Given the description of an element on the screen output the (x, y) to click on. 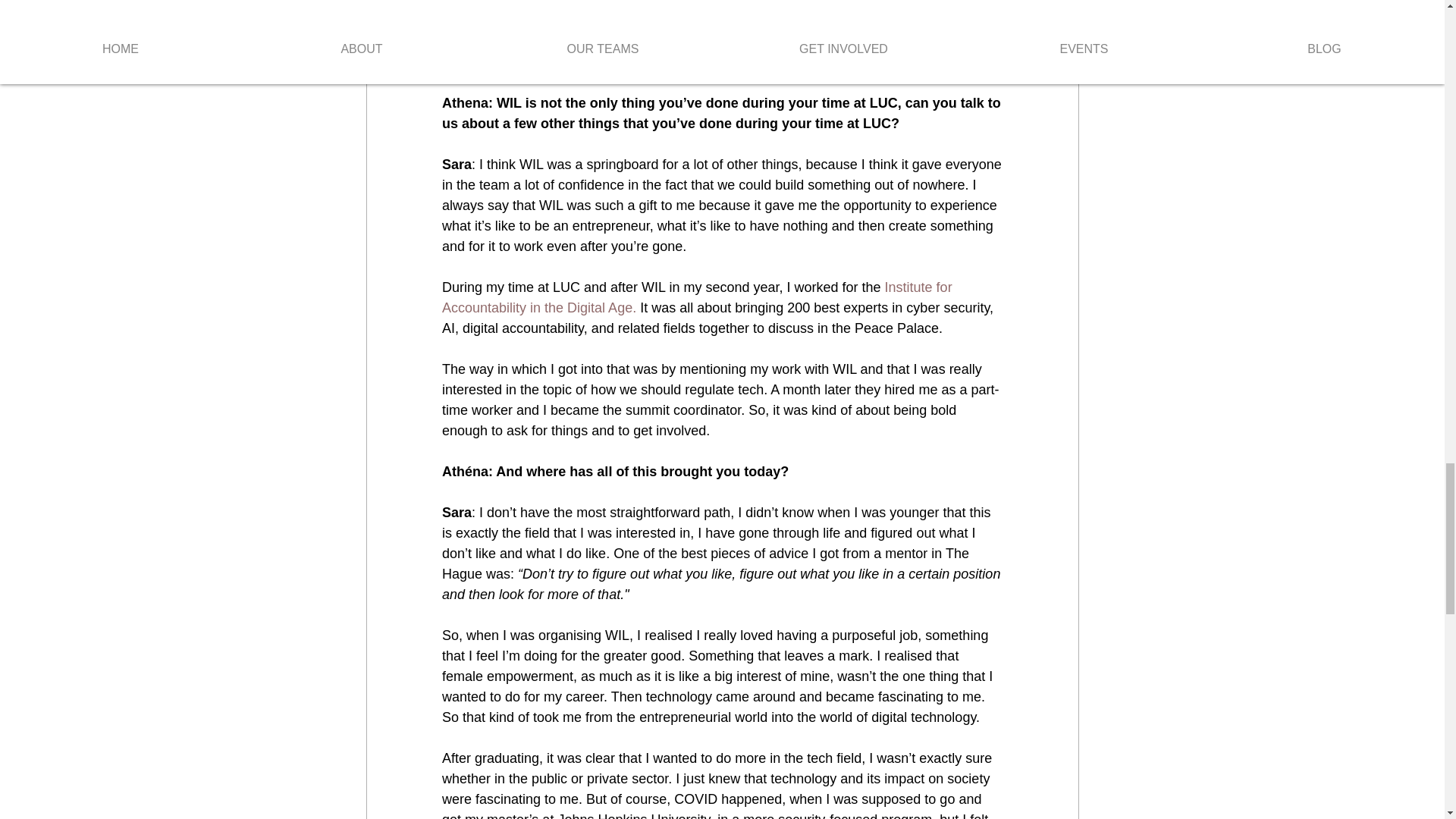
Institute for Accountability in the Digital Age. (698, 297)
